Given the description of an element on the screen output the (x, y) to click on. 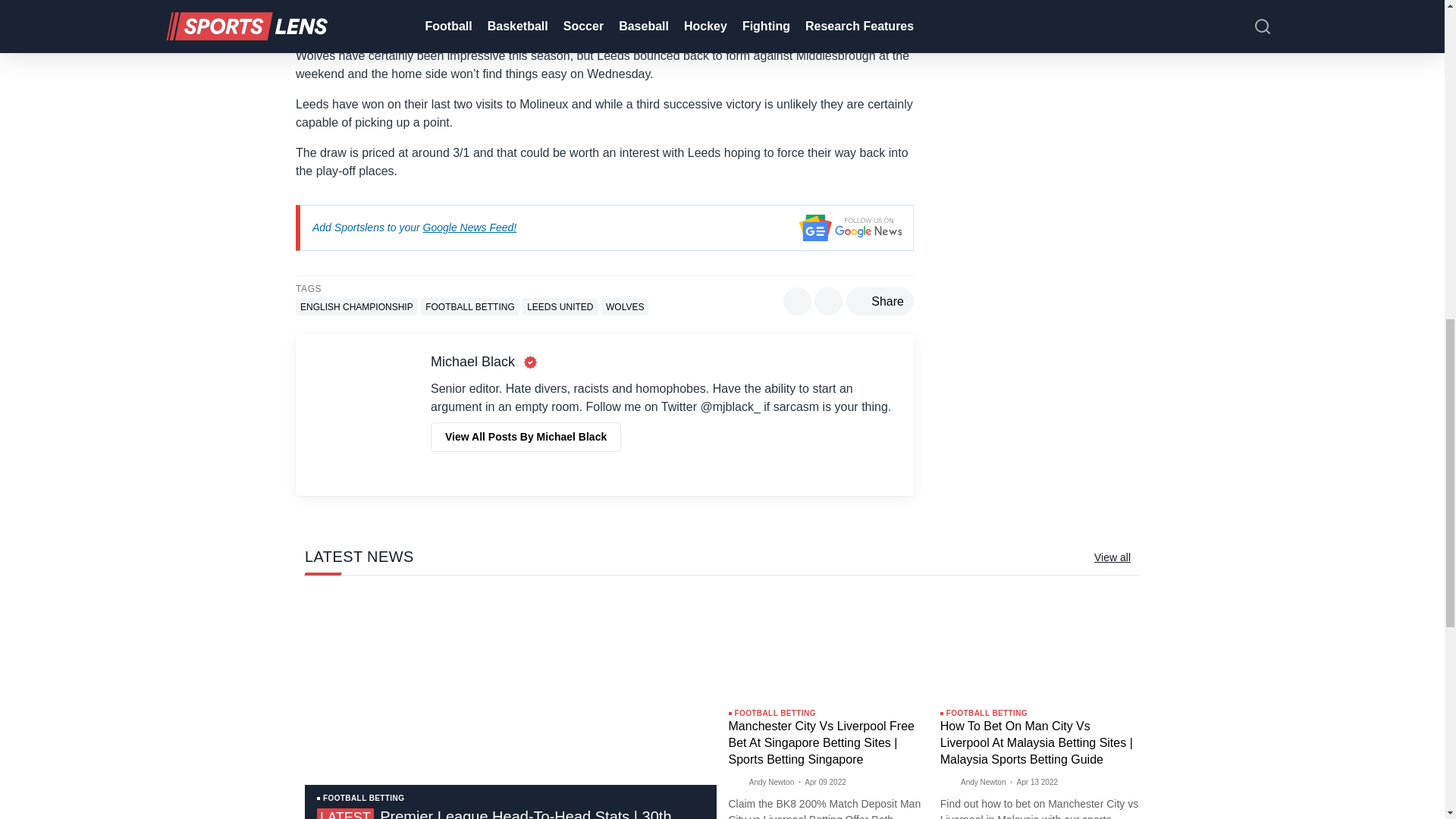
View All Posts By Michael Black (525, 437)
FOOTBALL BETTING (469, 306)
LEEDS UNITED (559, 306)
Share (879, 301)
ENGLISH CHAMPIONSHIP (356, 306)
WOLVES (624, 306)
Google News Feed! (469, 227)
